Given the description of an element on the screen output the (x, y) to click on. 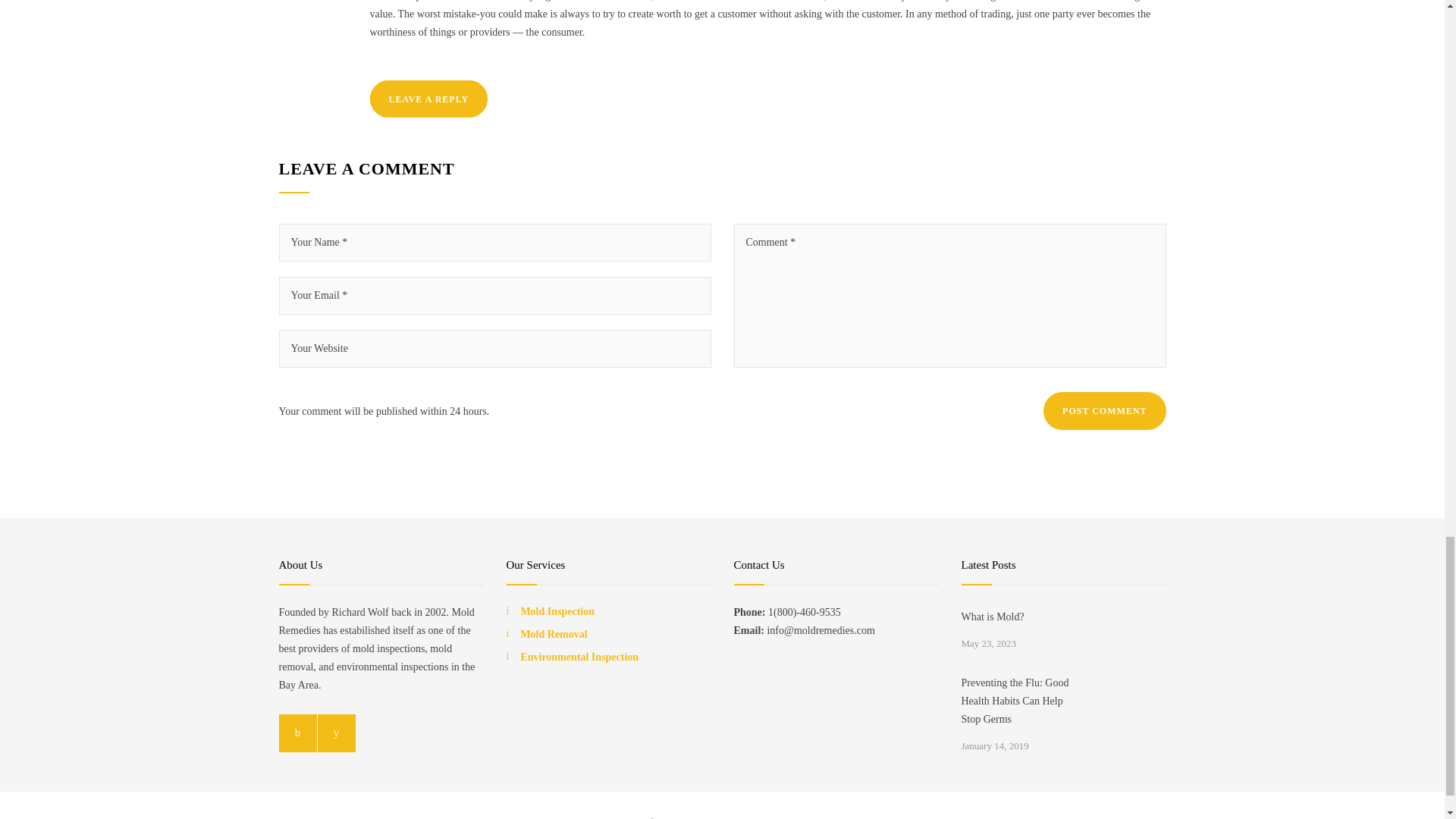
LEAVE A REPLY (428, 98)
Your Website (495, 348)
POST COMMENT (1104, 410)
Preventing the Flu: Good Health Habits Can Help Stop Germs (1021, 701)
LEAVE A REPLY (428, 98)
What is Mold? (1021, 617)
